Given the description of an element on the screen output the (x, y) to click on. 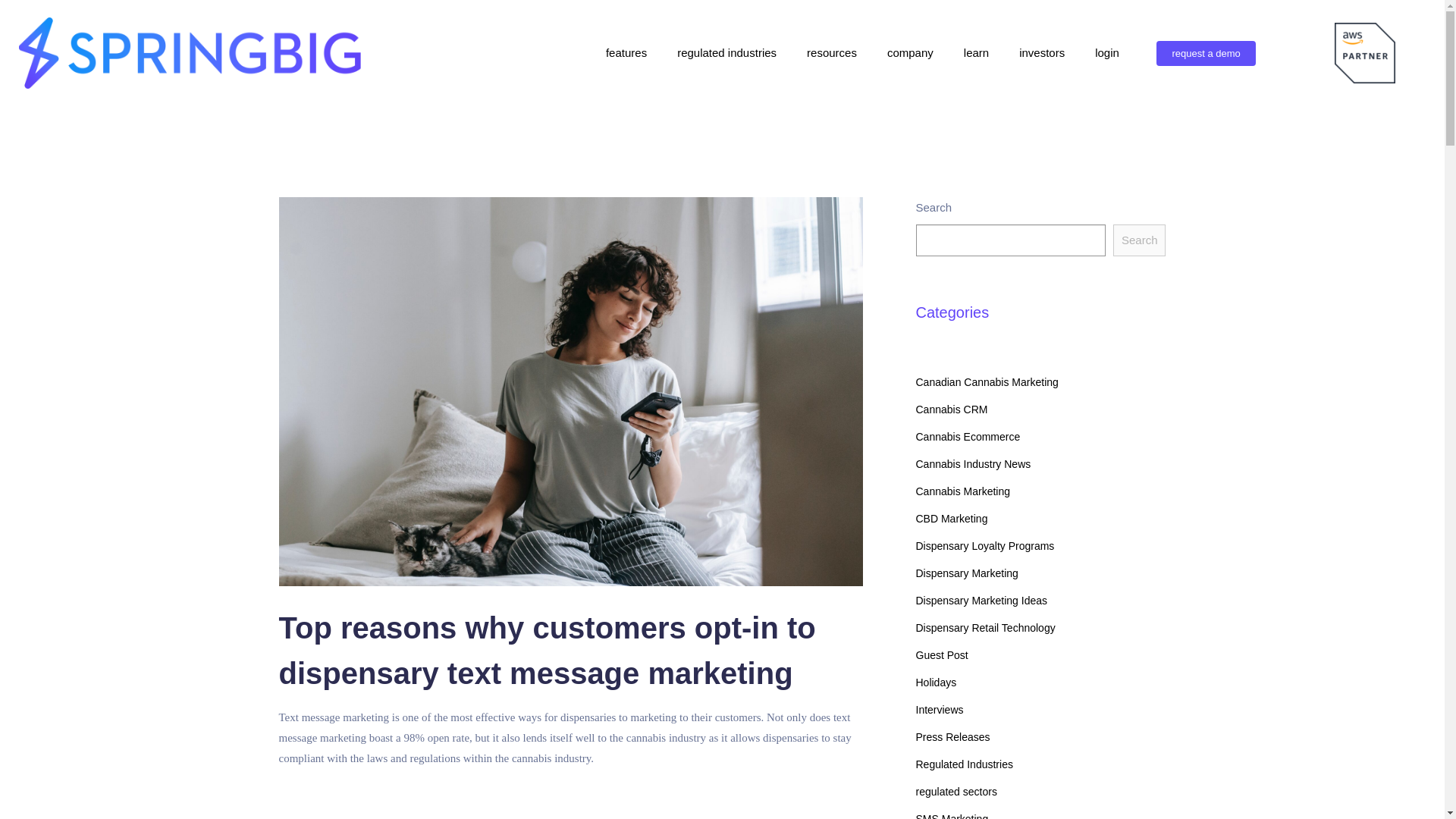
company (910, 53)
learn (976, 53)
resources (832, 53)
regulated industries (727, 53)
features (626, 53)
login (1107, 53)
investors (1042, 53)
